Given the description of an element on the screen output the (x, y) to click on. 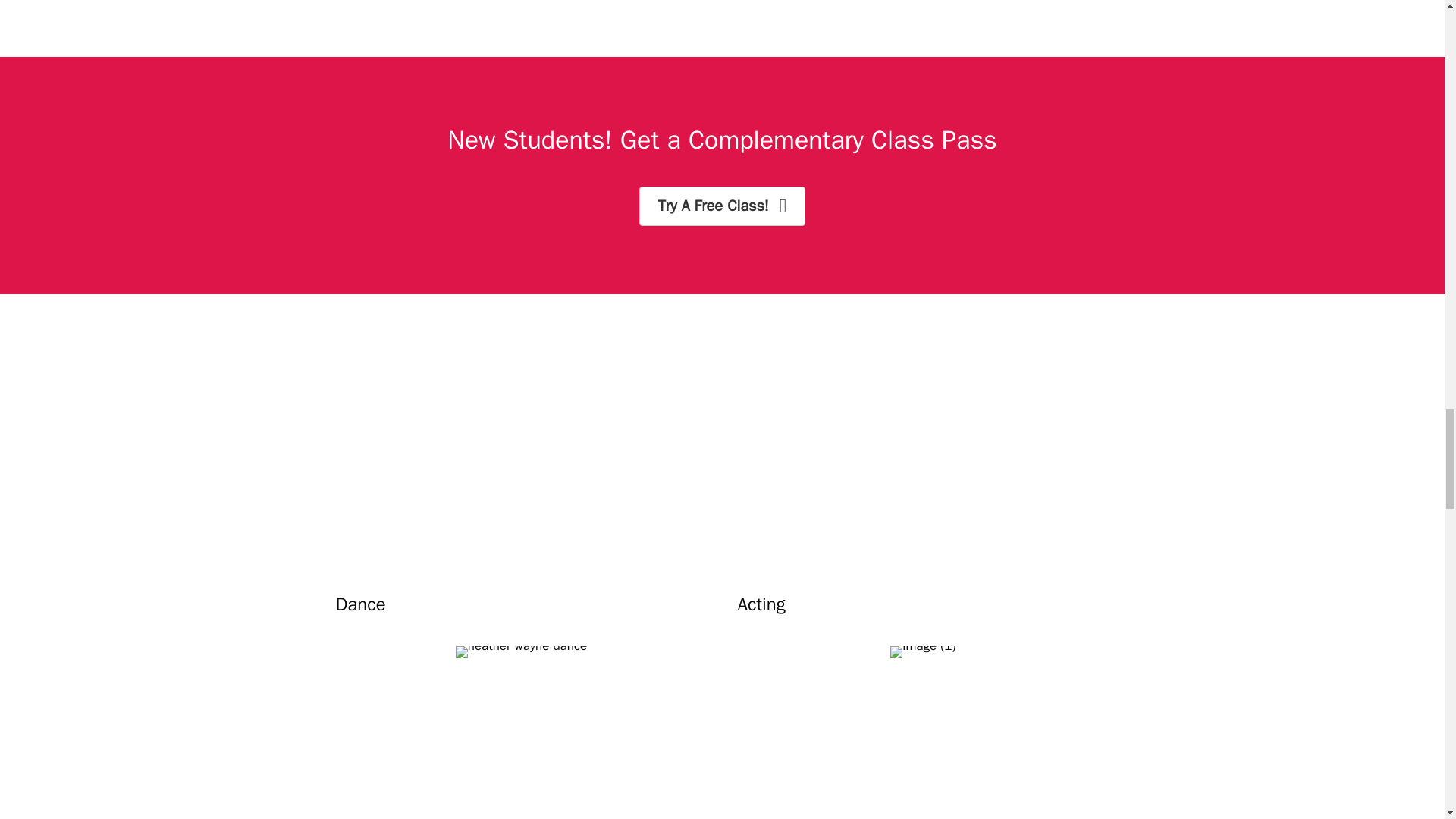
heather wayne dance (521, 652)
